Given the description of an element on the screen output the (x, y) to click on. 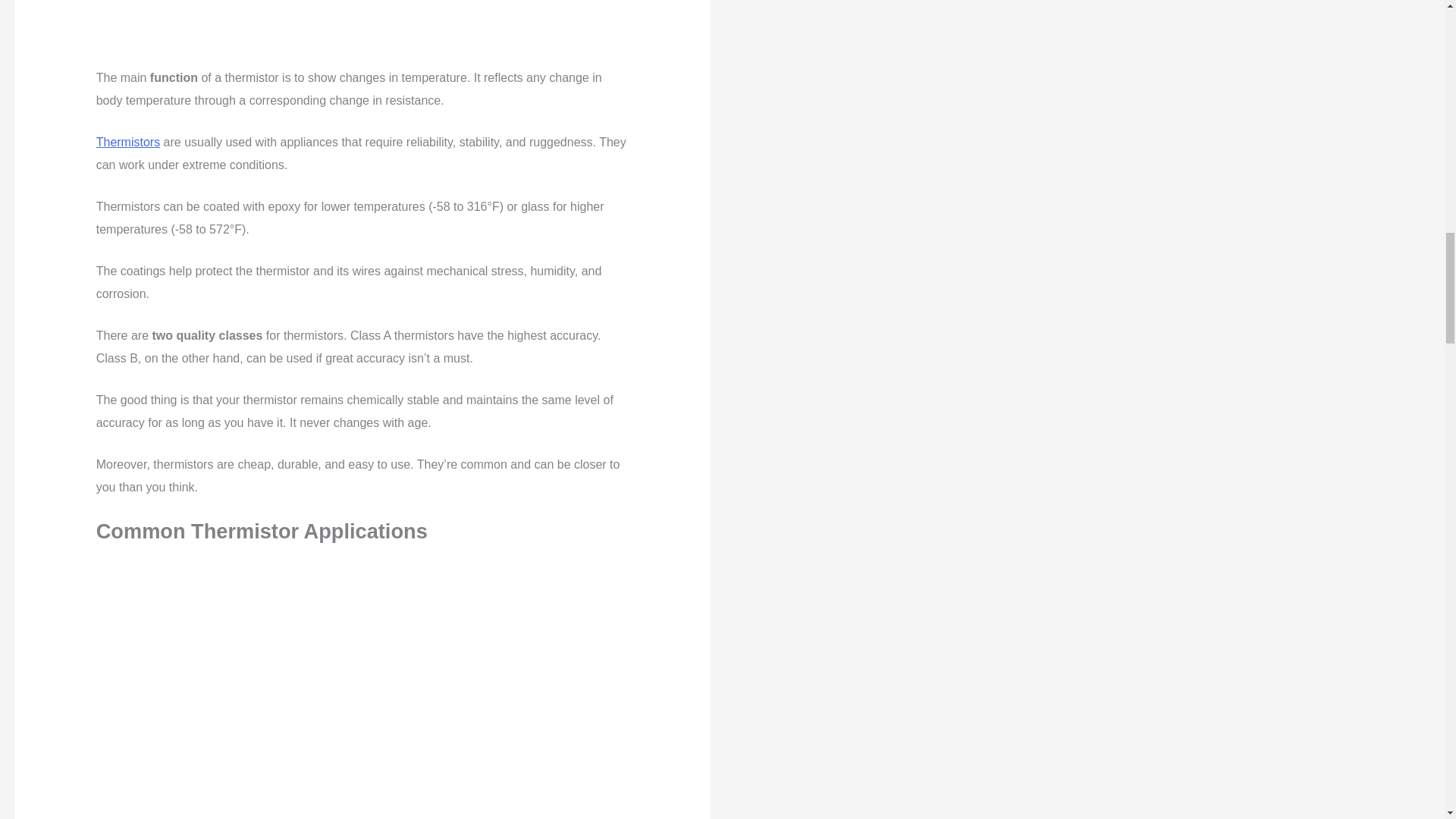
How Thermistors Work - The Learning Circuit (363, 33)
Thermistors (128, 141)
